Given the description of an element on the screen output the (x, y) to click on. 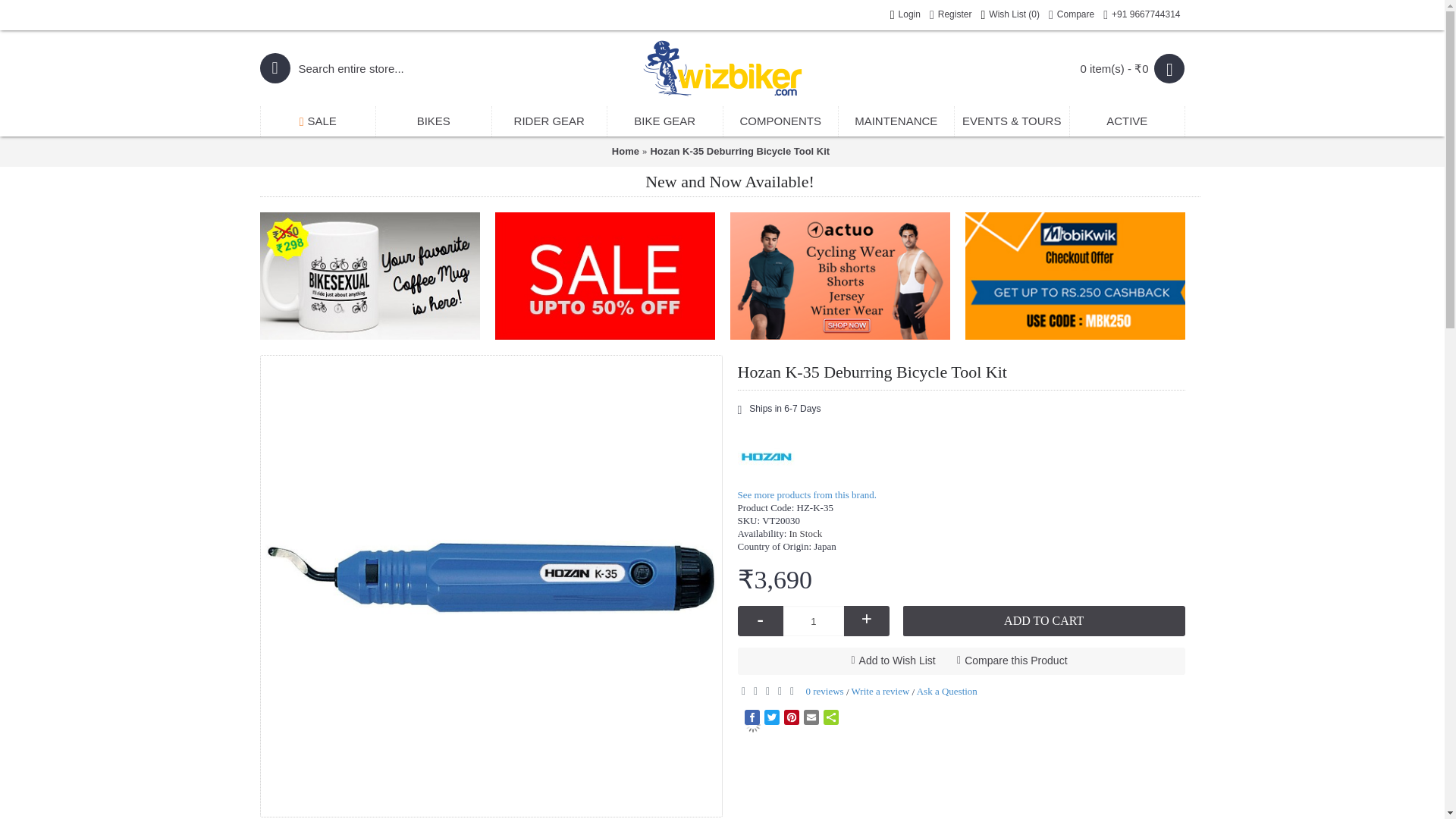
Register (950, 15)
wizbiker.com (722, 67)
SALE (317, 121)
Compare (1071, 15)
1 (813, 621)
BIKES (433, 121)
RIDER GEAR (549, 121)
Login (904, 15)
